Given the description of an element on the screen output the (x, y) to click on. 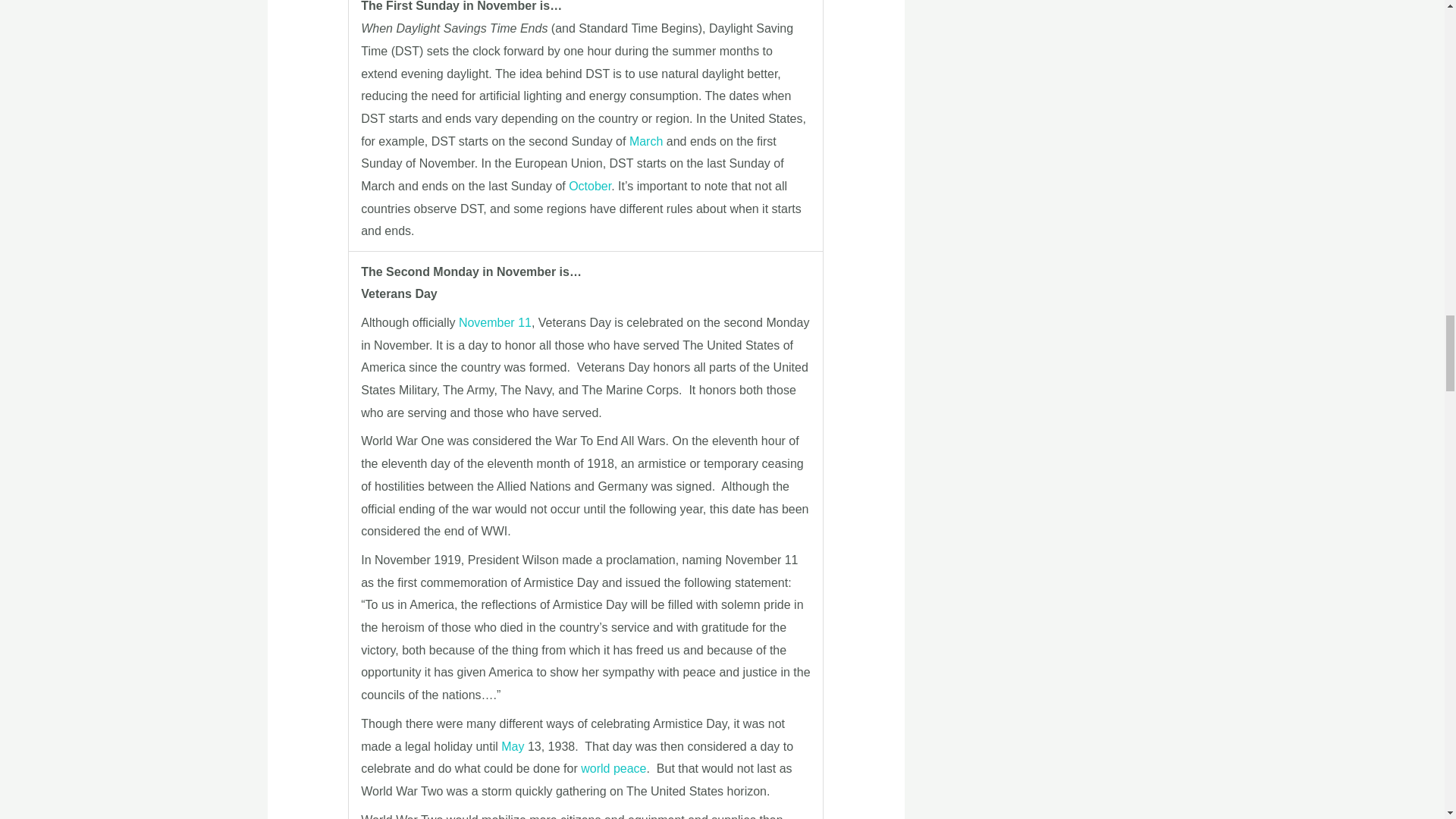
May (512, 746)
world peace (613, 768)
November 11 (494, 322)
October (590, 185)
March (645, 141)
